Given the description of an element on the screen output the (x, y) to click on. 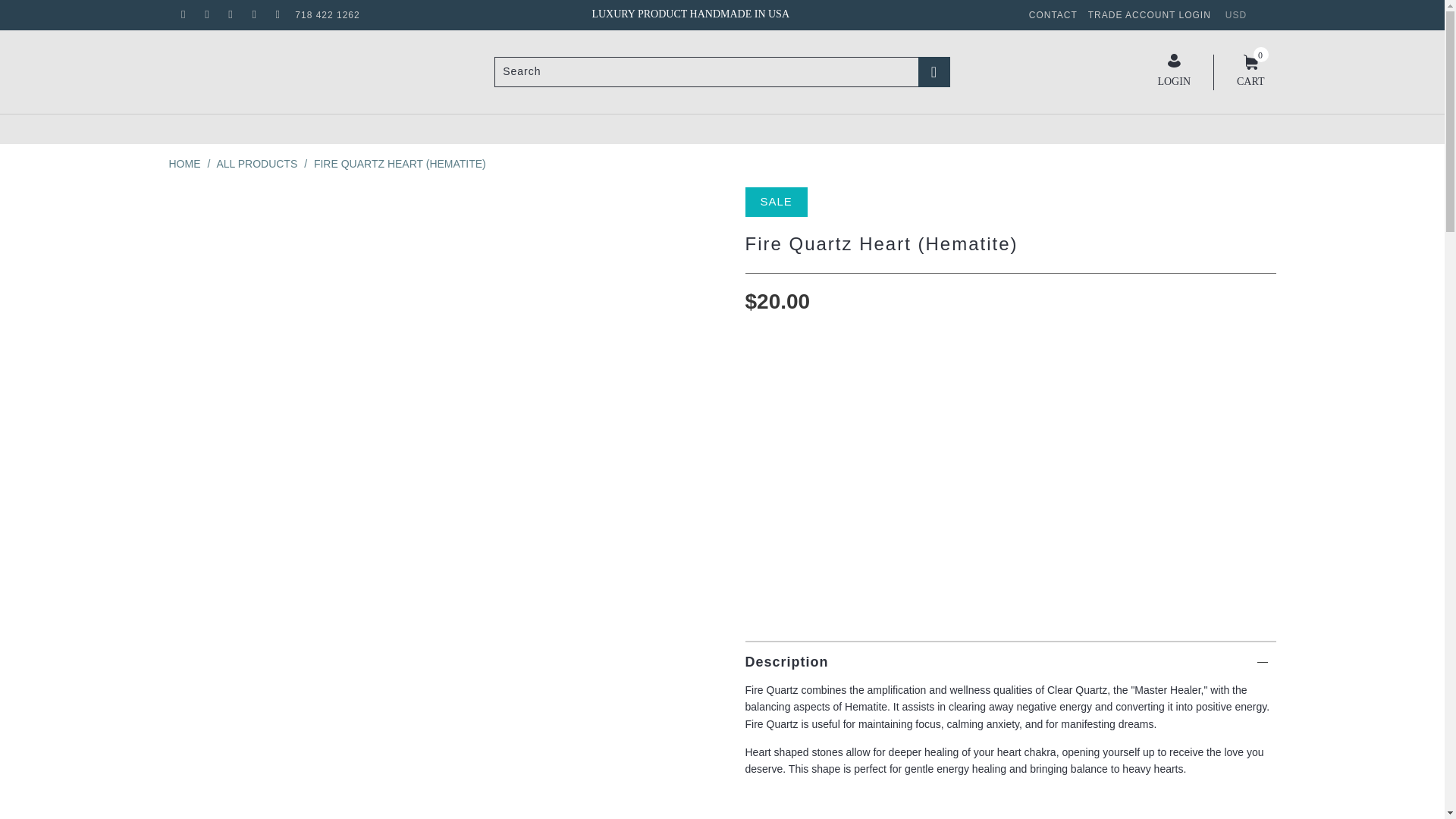
My Account  (1174, 72)
Aviva Stanoff Design on Pinterest (229, 14)
Aviva Stanoff Design on Facebook (182, 14)
718 422 1262 (327, 15)
Aviva Stanoff Design (184, 163)
All Products (256, 163)
Aviva Stanoff Design on YouTube (206, 14)
Aviva Stanoff Design on LinkedIn (276, 14)
Aviva Stanoff Design on Instagram (253, 14)
Aviva Stanoff Design (288, 62)
